Given the description of an element on the screen output the (x, y) to click on. 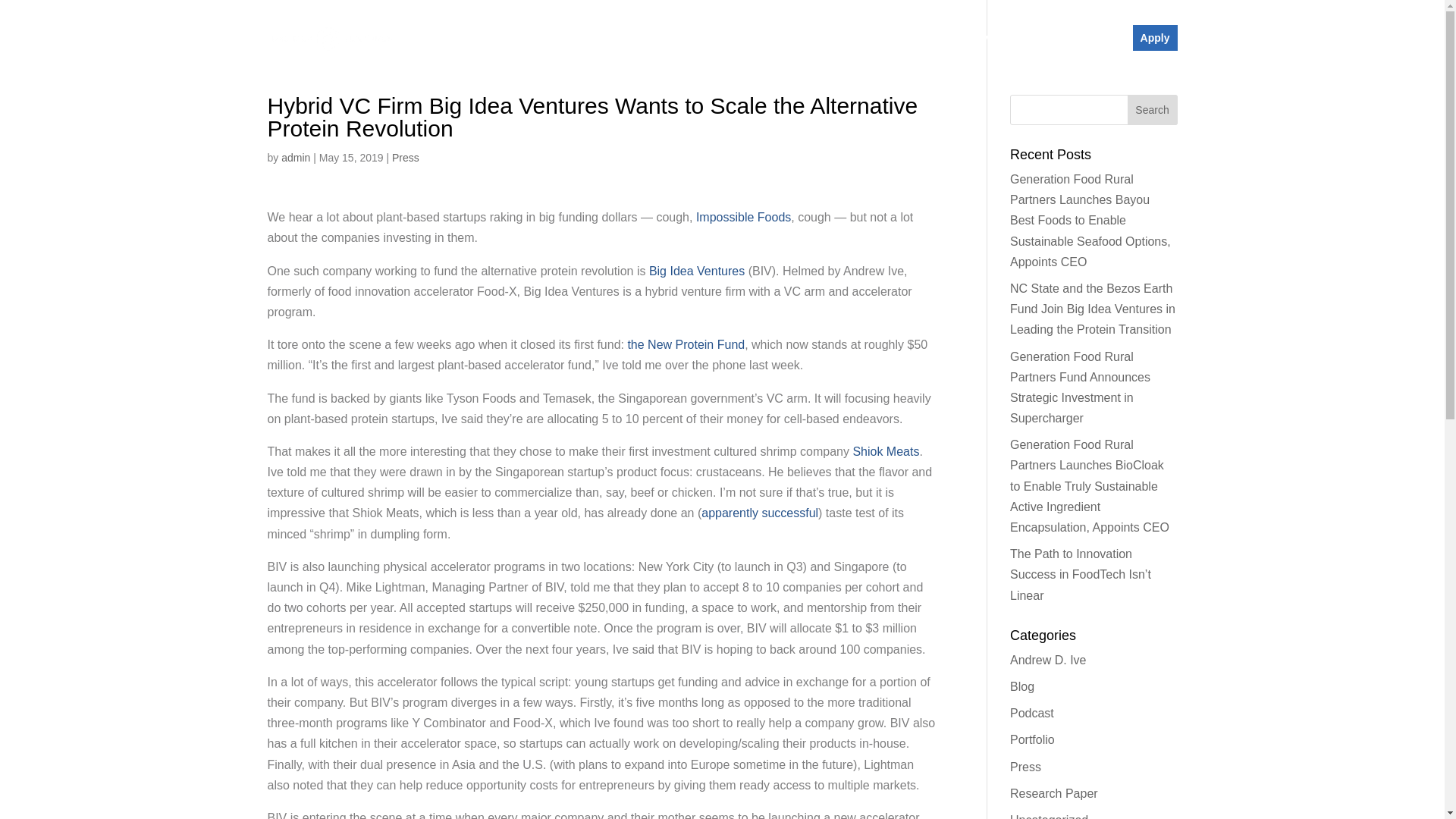
Careers (1066, 37)
Andrew D. Ive (1048, 659)
Media (1028, 37)
Contact (1109, 37)
admin (295, 157)
apparently successful (759, 512)
Portfolio (920, 37)
the New Protein Fund (685, 344)
Impossible Foods (742, 216)
Search (1151, 110)
Apply (1154, 37)
Shiok Meats (884, 451)
